Given the description of an element on the screen output the (x, y) to click on. 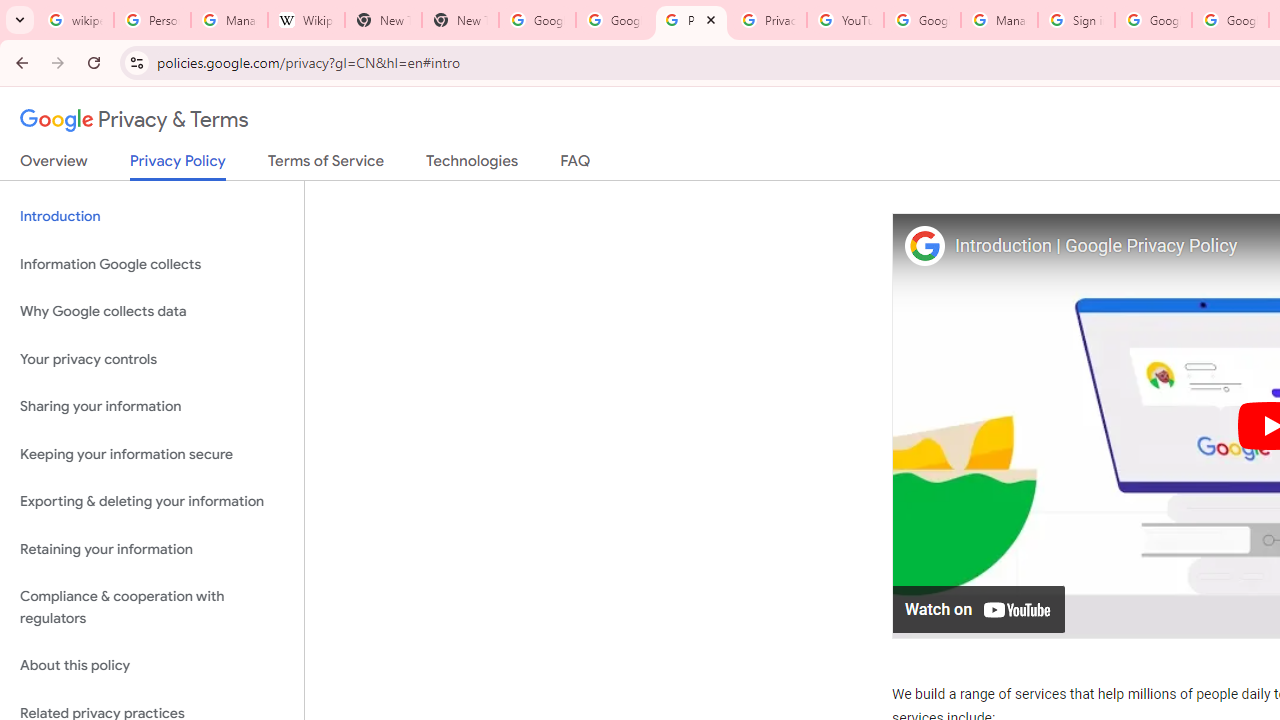
Sign in - Google Accounts (1076, 20)
New Tab (460, 20)
Photo image of Google (924, 244)
Your privacy controls (152, 358)
